Given the description of an element on the screen output the (x, y) to click on. 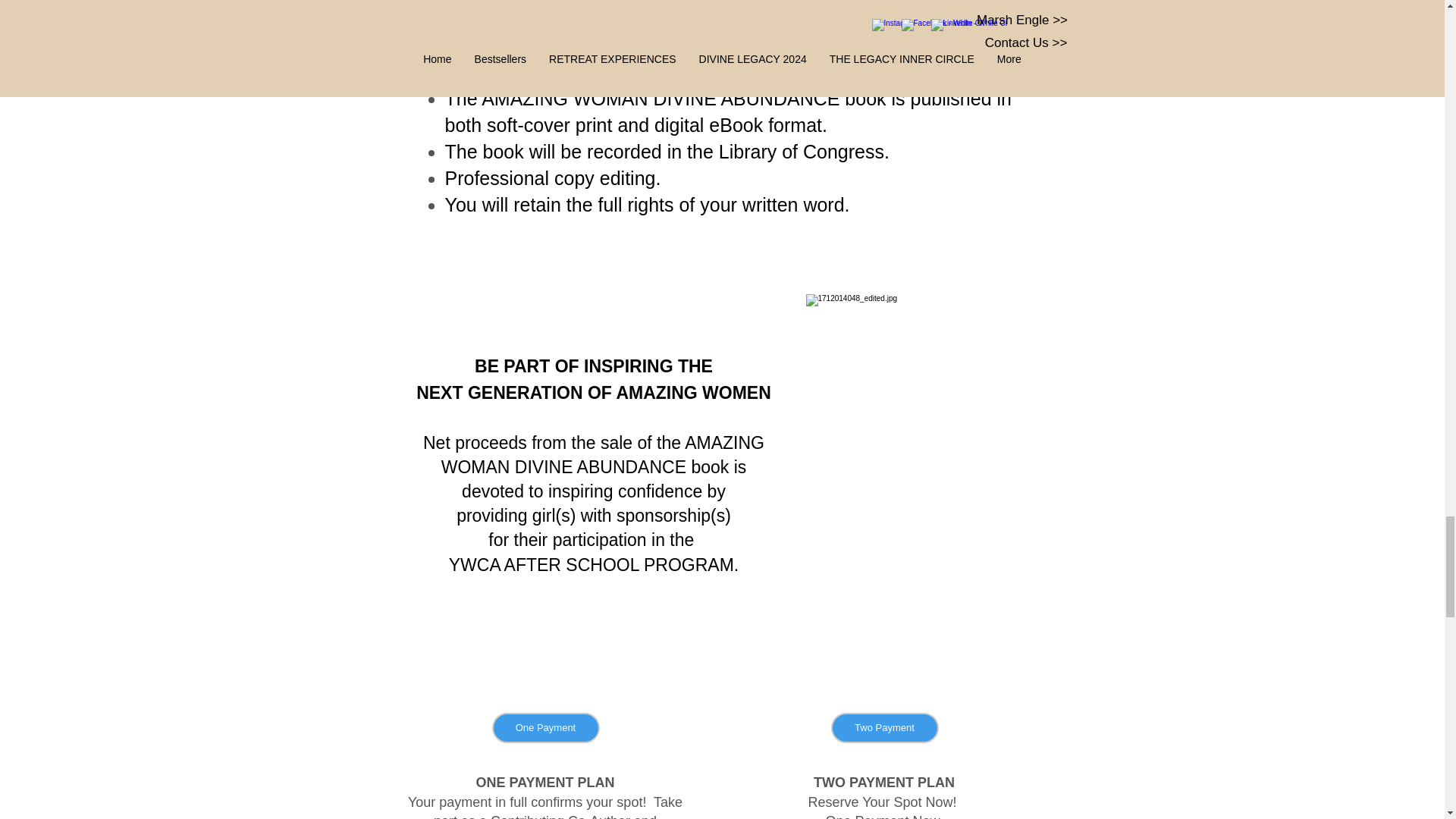
One Payment (545, 727)
Two Payment (885, 727)
